Given the description of an element on the screen output the (x, y) to click on. 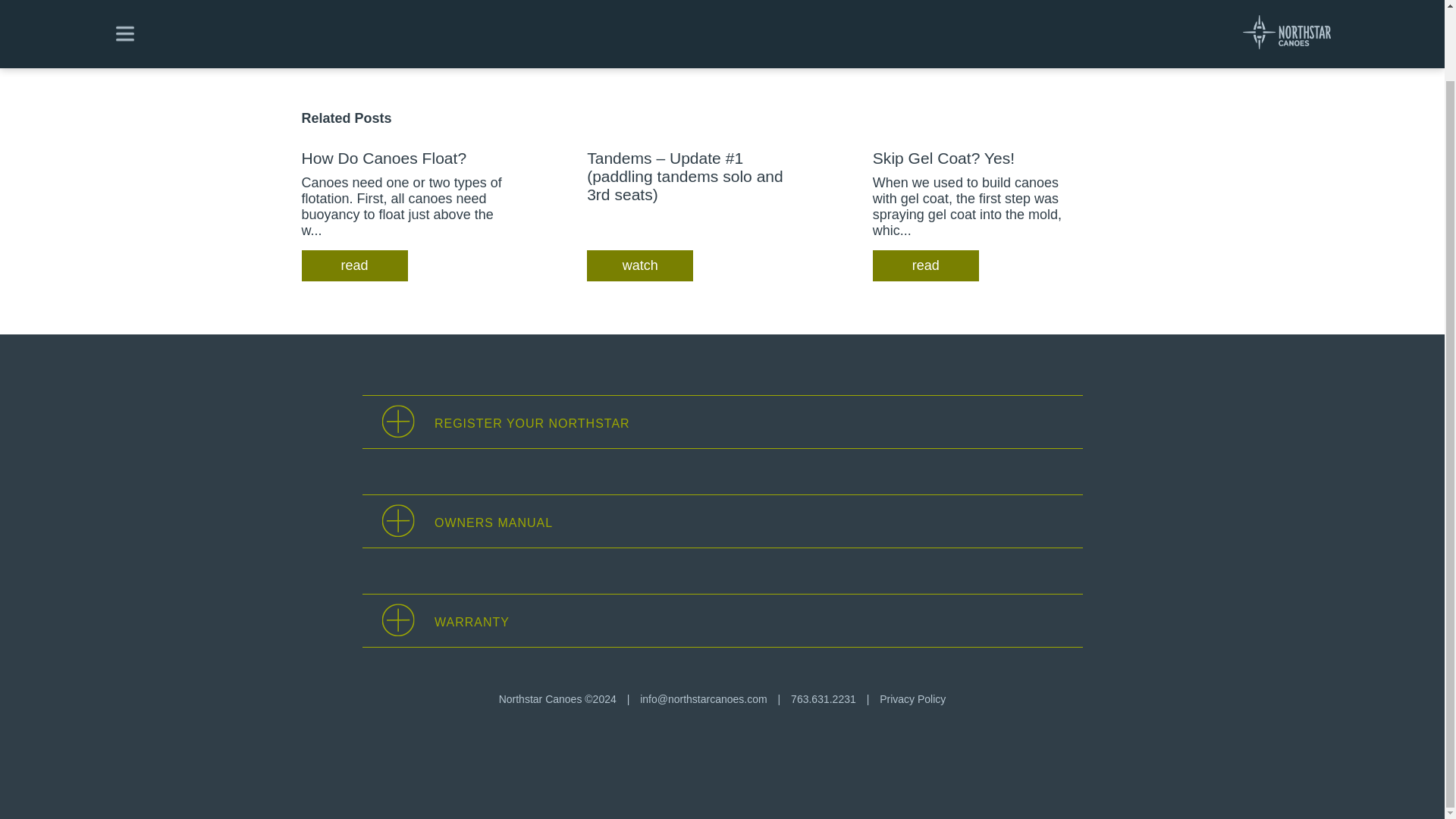
watch (639, 265)
read (925, 265)
read (354, 265)
Privacy Policy (911, 698)
